Given the description of an element on the screen output the (x, y) to click on. 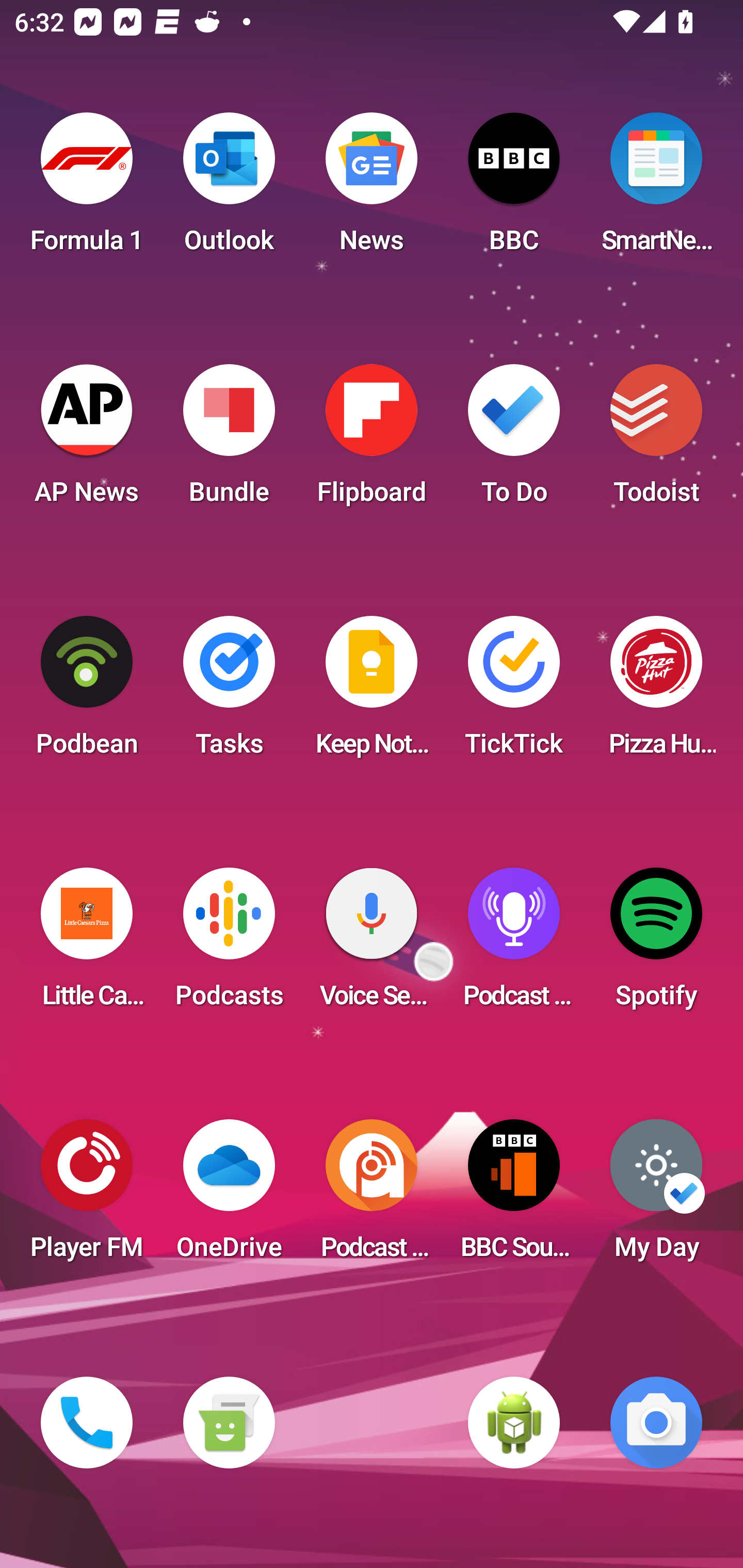
Formula 1 (86, 188)
Outlook (228, 188)
News (371, 188)
BBC (513, 188)
SmartNews (656, 188)
AP News (86, 440)
Bundle (228, 440)
Flipboard (371, 440)
To Do (513, 440)
Todoist (656, 440)
Podbean (86, 692)
Tasks (228, 692)
Keep Notes (371, 692)
TickTick (513, 692)
Pizza Hut HK & Macau (656, 692)
Little Caesars Pizza (86, 943)
Podcasts (228, 943)
Voice Search (371, 943)
Podcast Player (513, 943)
Spotify (656, 943)
Player FM (86, 1195)
OneDrive (228, 1195)
Podcast Addict (371, 1195)
BBC Sounds (513, 1195)
My Day (656, 1195)
Phone (86, 1422)
Messaging (228, 1422)
WebView Browser Tester (513, 1422)
Camera (656, 1422)
